Given the description of an element on the screen output the (x, y) to click on. 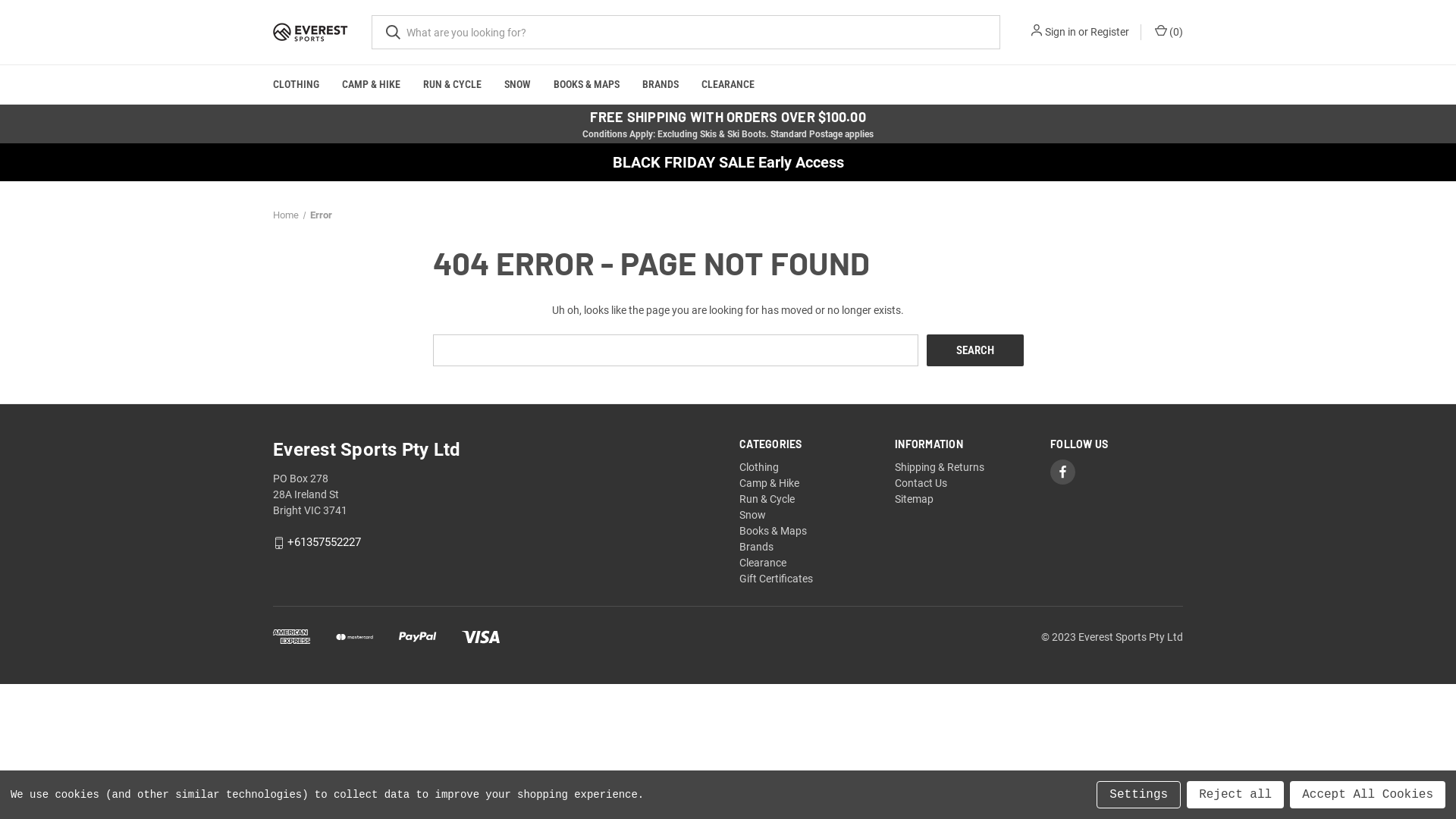
CLEARANCE Element type: text (727, 84)
Accept All Cookies Element type: text (1367, 794)
Sign in Element type: text (1060, 32)
Books & Maps Element type: text (772, 530)
Clothing Element type: text (758, 467)
Settings Element type: text (1138, 794)
Home Element type: text (285, 214)
Shipping & Returns Element type: text (939, 467)
BLACK FRIDAY SALE Early Access Element type: text (728, 162)
BOOKS & MAPS Element type: text (586, 84)
Brands Element type: text (756, 546)
Run & Cycle Element type: text (766, 498)
SNOW Element type: text (517, 84)
Clearance Element type: text (762, 562)
Reject all Element type: text (1234, 794)
Everest Sports Pty Ltd Element type: hover (310, 32)
Sitemap Element type: text (913, 498)
Error Element type: text (320, 214)
Contact Us Element type: text (920, 482)
RUN & CYCLE Element type: text (451, 84)
+61357552227 Element type: text (323, 542)
Register Element type: text (1109, 32)
Gift Certificates Element type: text (775, 578)
Search Element type: text (974, 349)
(0) Element type: text (1167, 32)
Snow Element type: text (752, 514)
BRANDS Element type: text (660, 84)
Camp & Hike Element type: text (769, 482)
CLOTHING Element type: text (295, 84)
CAMP & HIKE Element type: text (370, 84)
